Given the description of an element on the screen output the (x, y) to click on. 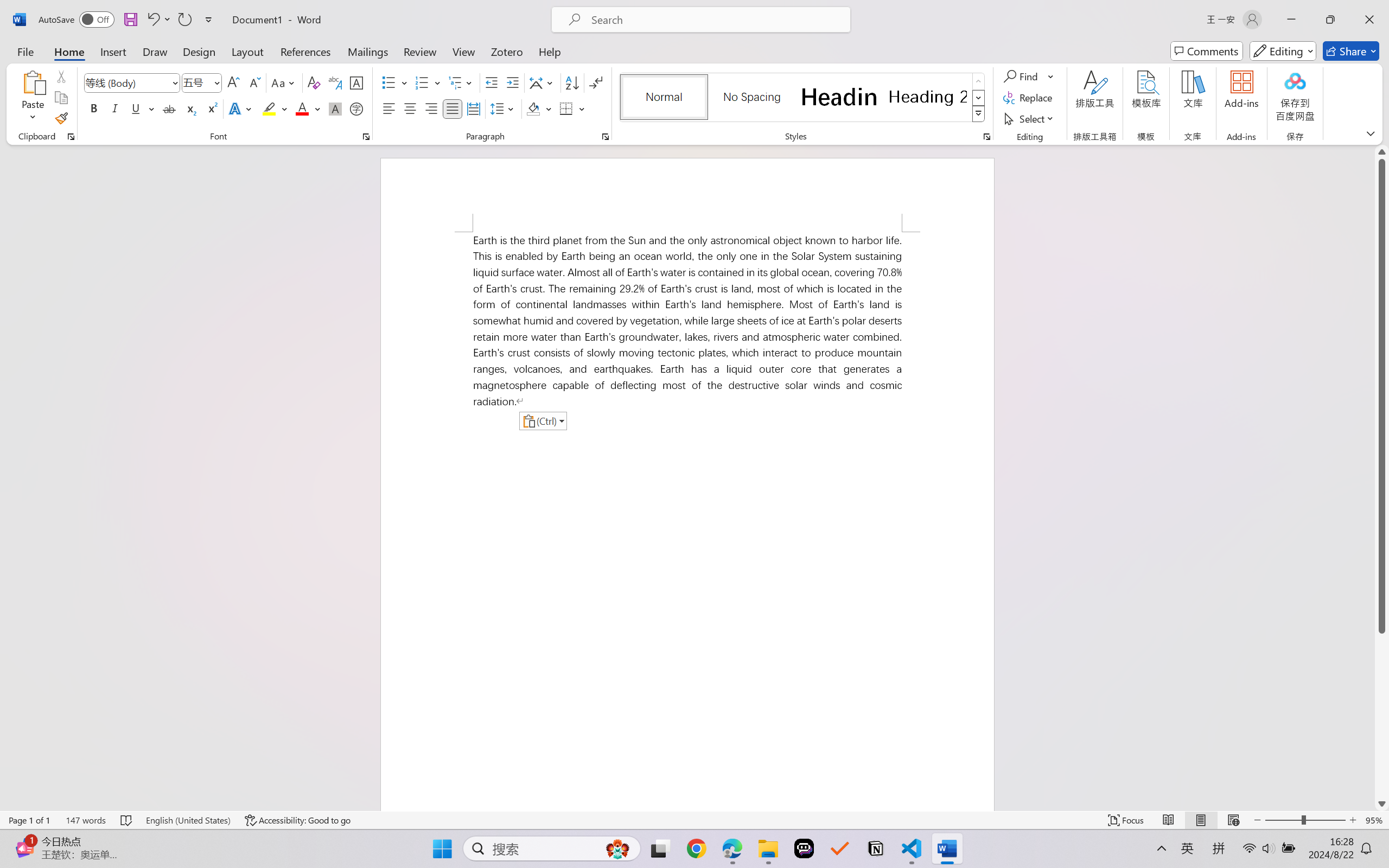
Heading 1 (839, 96)
Heading 2 (927, 96)
Shading (539, 108)
Sort... (571, 82)
Character Shading (334, 108)
Page down (1382, 714)
Italic (115, 108)
Font Color (308, 108)
AutomationID: QuickStylesGallery (802, 97)
